Given the description of an element on the screen output the (x, y) to click on. 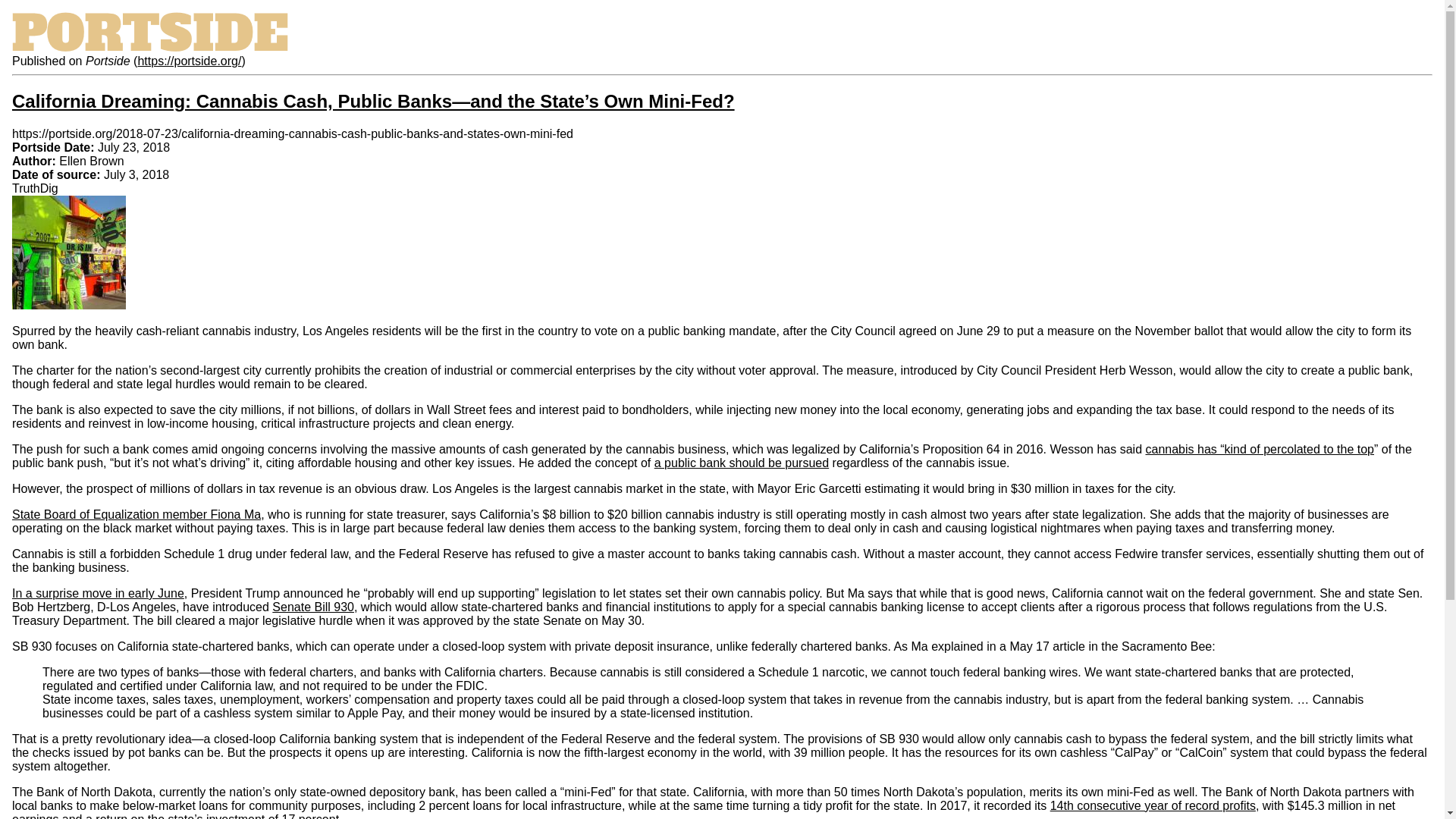
14th consecutive year of record profits (1152, 805)
In a surprise move in early June (97, 593)
Senate Bill 930 (312, 606)
a public bank should be pursued (740, 462)
State Board of Equalization member Fiona Ma (135, 513)
